Given the description of an element on the screen output the (x, y) to click on. 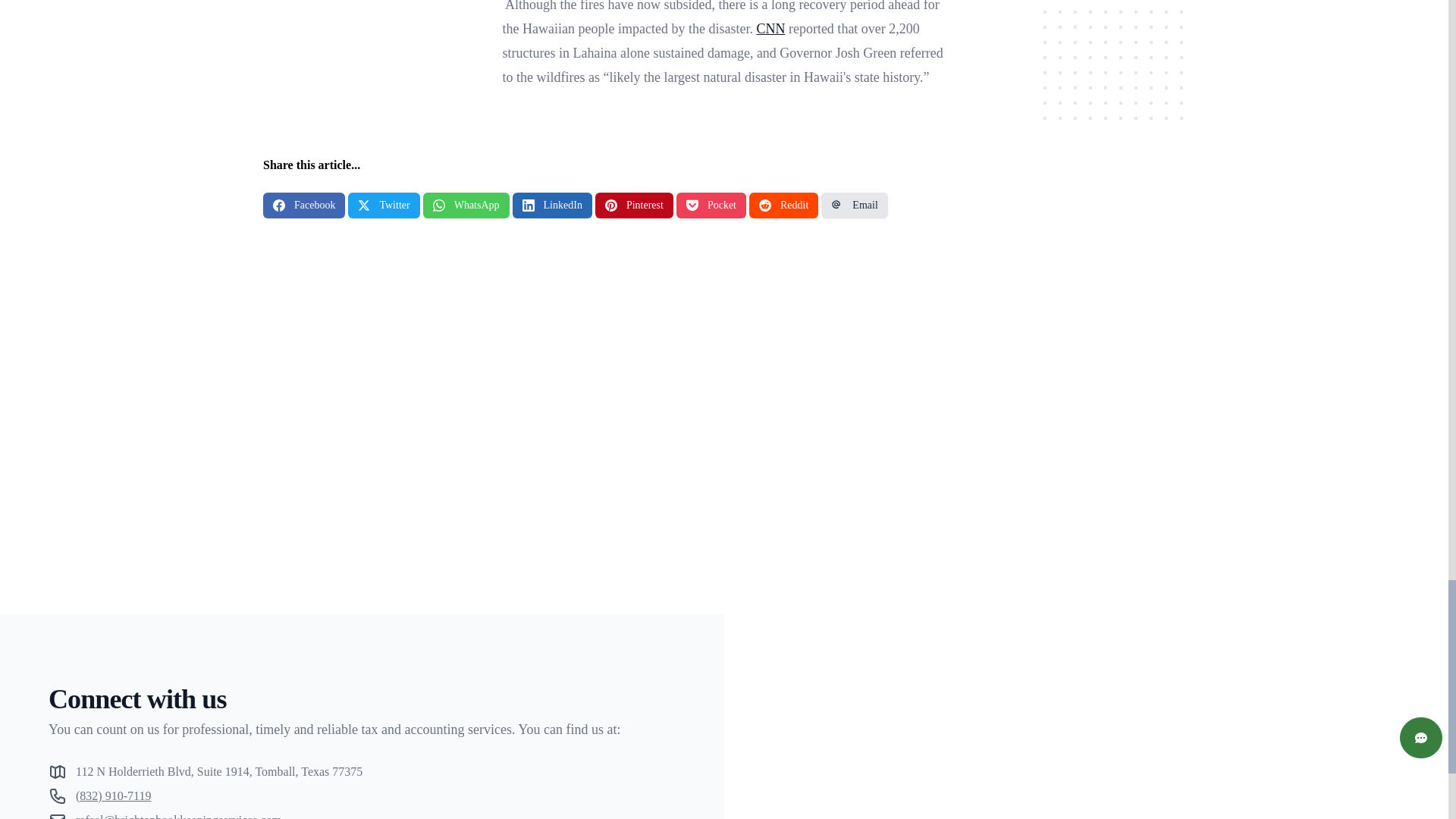
CNN (769, 28)
Facebook (304, 205)
Twitter (383, 205)
